Given the description of an element on the screen output the (x, y) to click on. 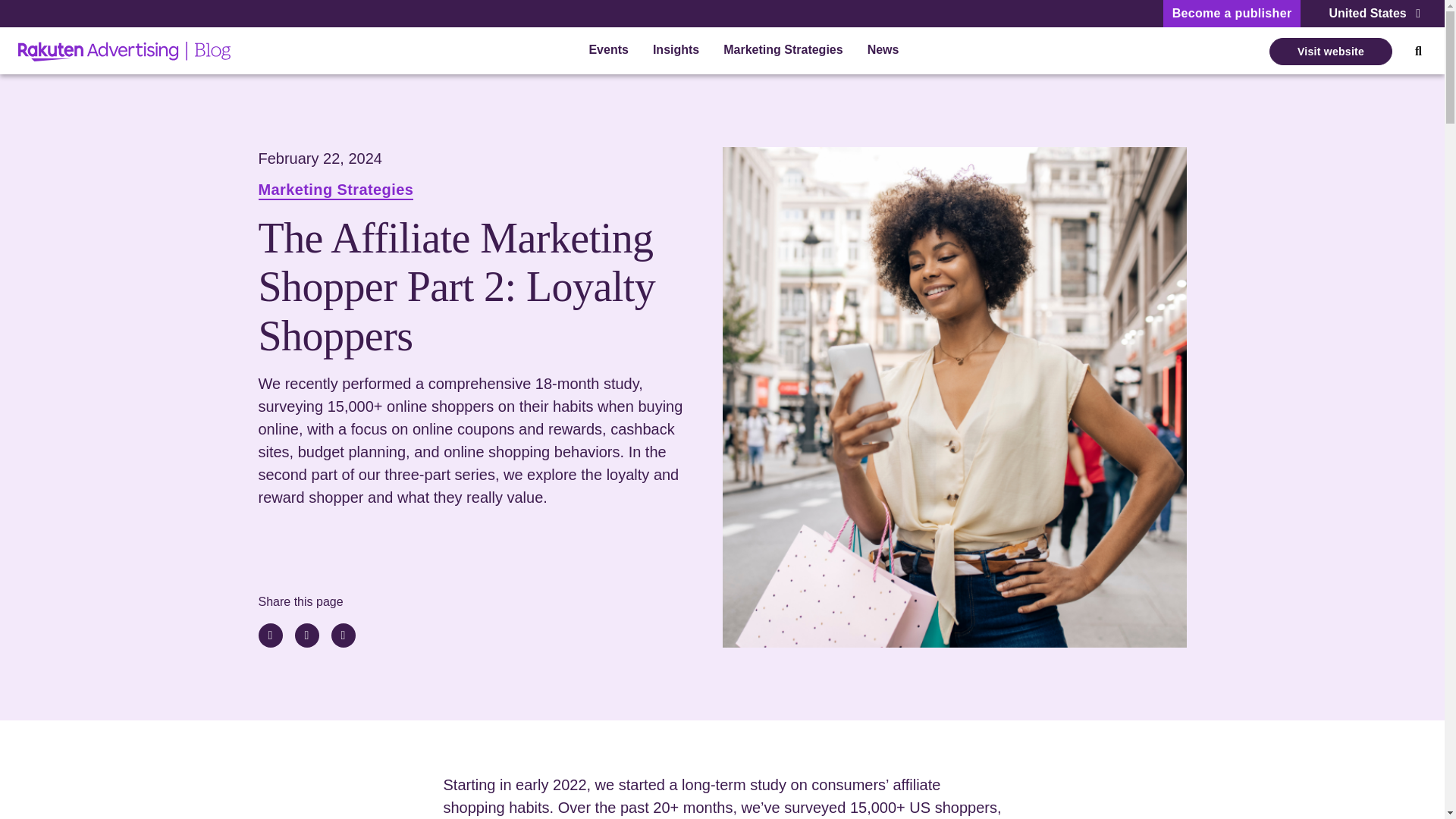
Marketing Strategies (335, 191)
Share on Twitter (306, 635)
Visit website (1330, 51)
Share on LinkedIn (269, 635)
United States (1374, 13)
Share on Twitter (306, 635)
Search the Blog (1418, 51)
Share on Facebook (342, 635)
Share on Facebook (342, 635)
Marketing Strategies (783, 51)
